Given the description of an element on the screen output the (x, y) to click on. 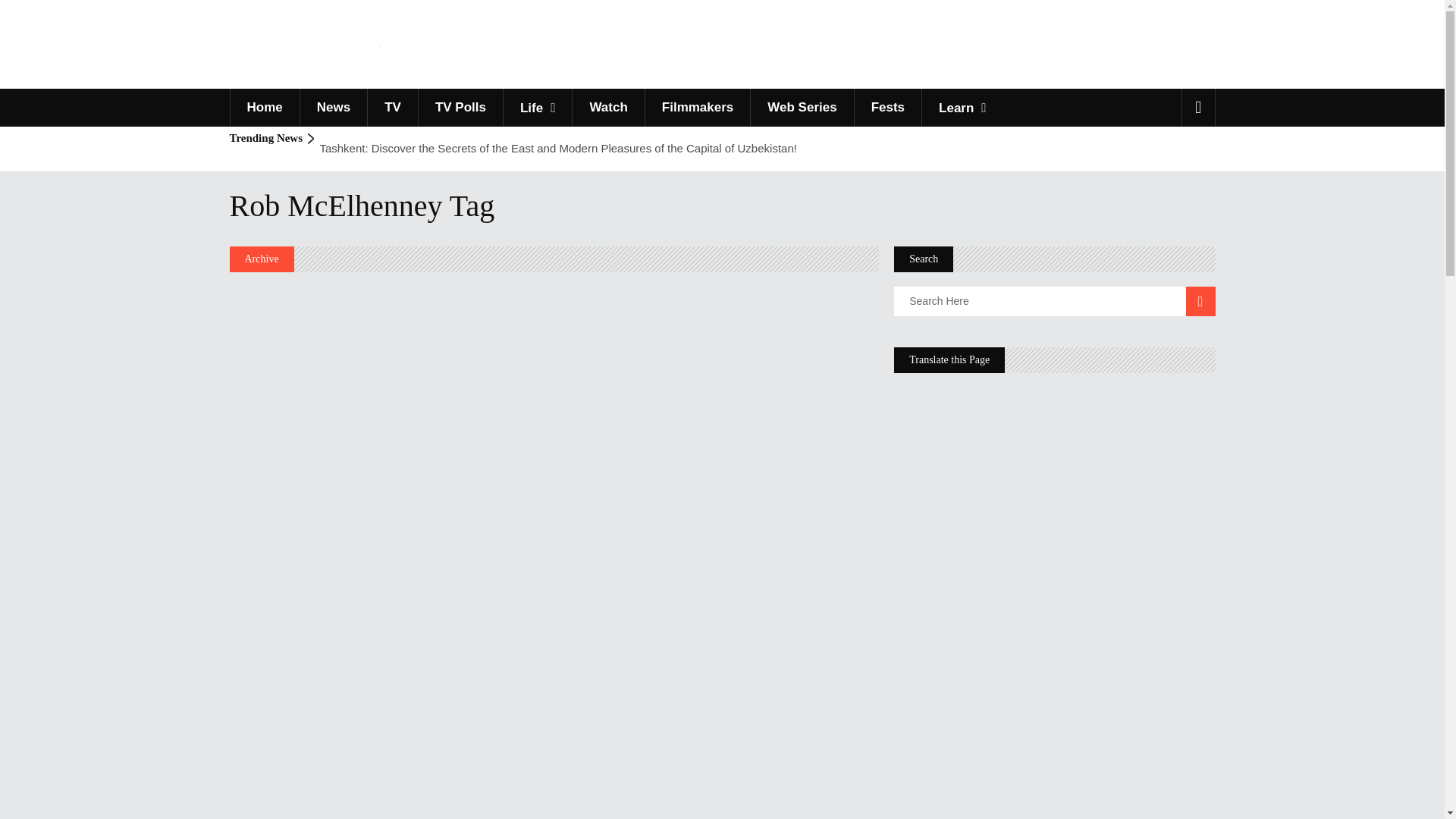
Filmmakers (698, 107)
Fests (887, 107)
Life (537, 107)
Home (263, 107)
Watch (607, 107)
News (332, 107)
Learn (962, 107)
TV Polls (459, 107)
Web Series (801, 107)
TV (391, 107)
